Given the description of an element on the screen output the (x, y) to click on. 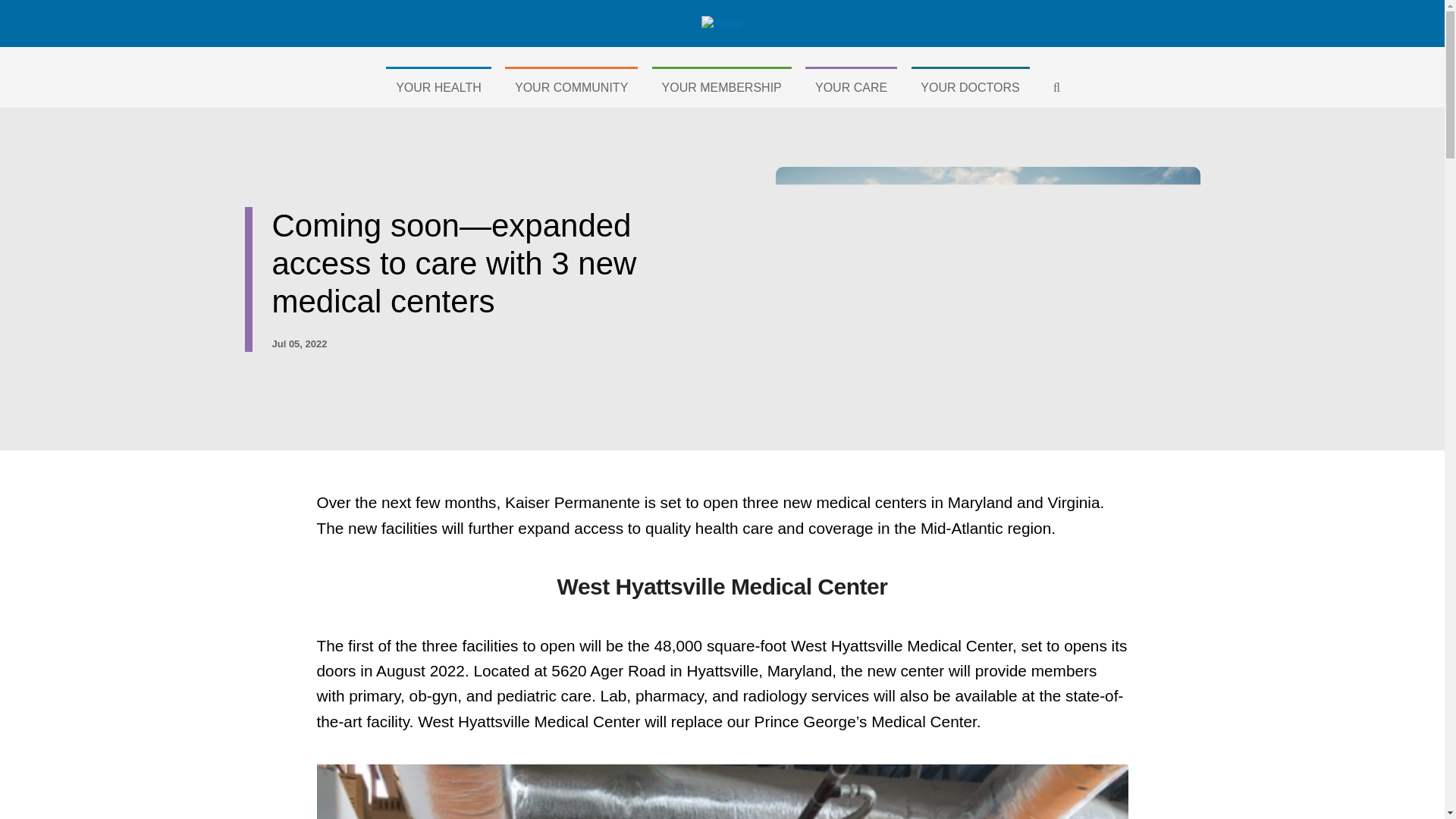
YOUR COMMUNITY (571, 85)
YOUR DOCTORS (970, 85)
YOUR HEALTH (437, 85)
YOUR CARE (850, 85)
YOUR MEMBERSHIP (722, 85)
